Given the description of an element on the screen output the (x, y) to click on. 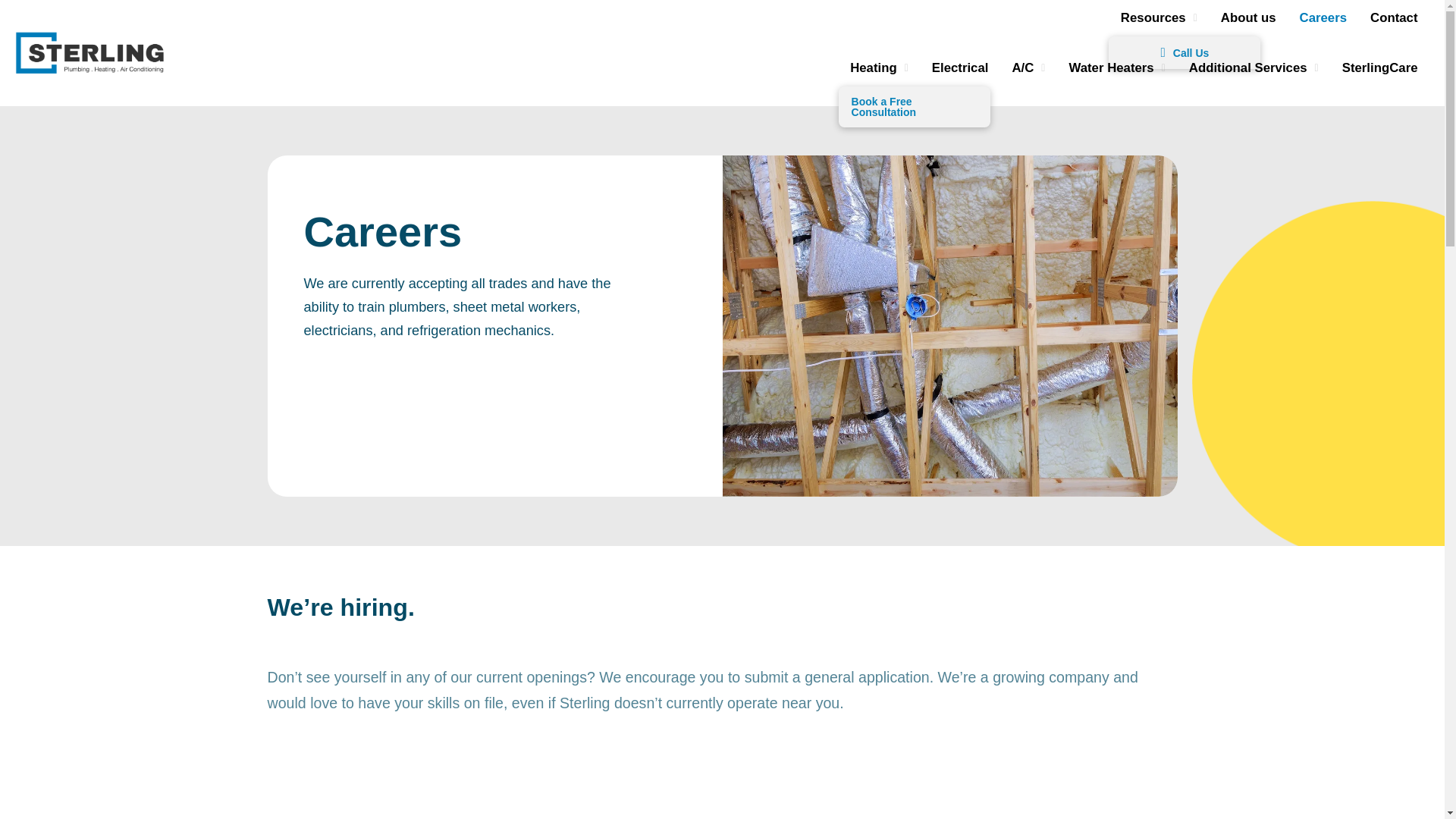
Call Us (1184, 52)
Electrical (960, 67)
Book a Free Consultation (914, 106)
Heating (879, 67)
About us (1247, 18)
Careers (1322, 18)
Resources (1158, 18)
Water Heaters (1116, 67)
Contact (1393, 18)
SterlingCare (1379, 67)
